Given the description of an element on the screen output the (x, y) to click on. 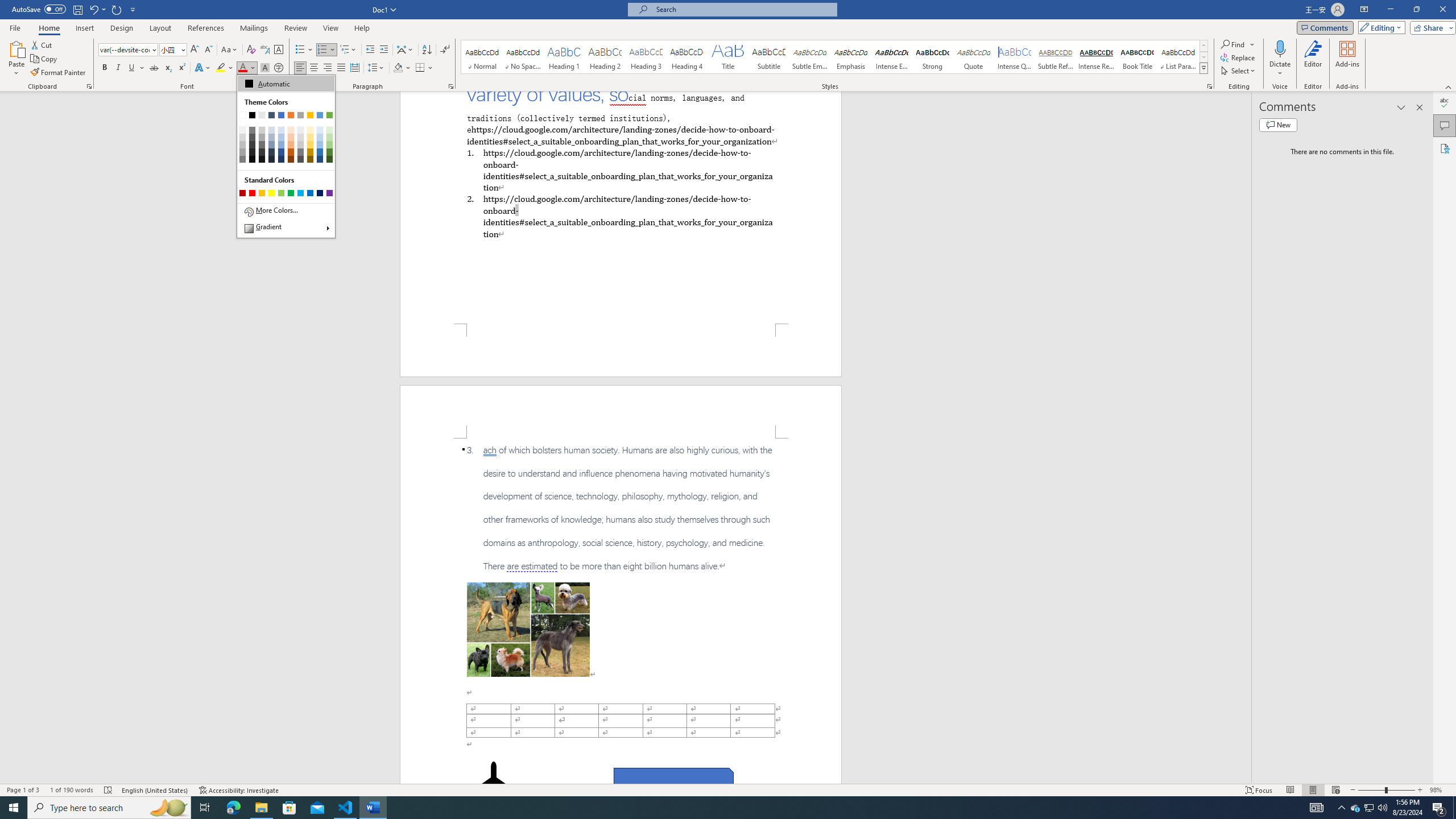
2. (620, 216)
Word - 1 running window (373, 807)
